Given the description of an element on the screen output the (x, y) to click on. 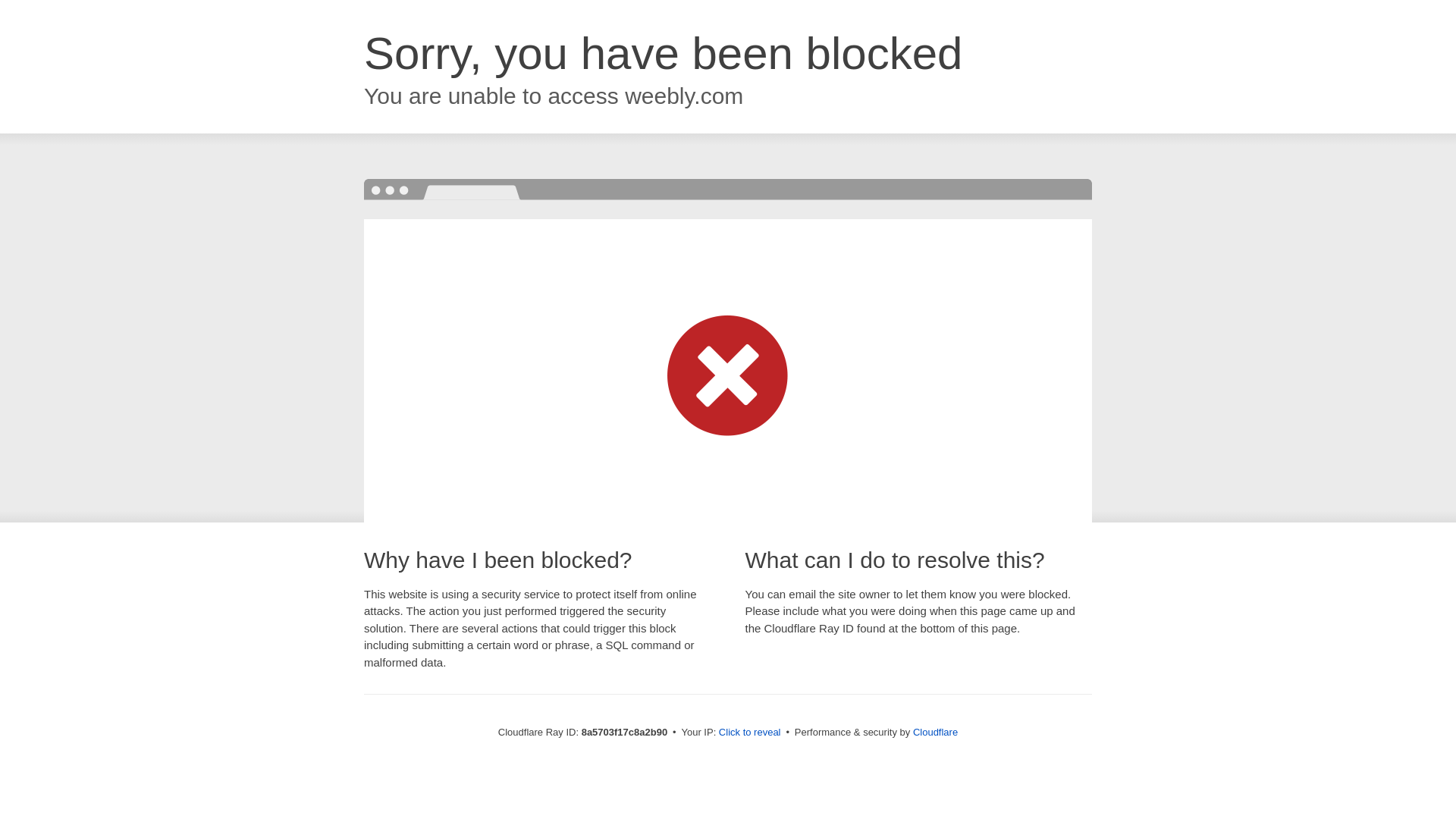
Cloudflare (935, 731)
Click to reveal (749, 732)
